Given the description of an element on the screen output the (x, y) to click on. 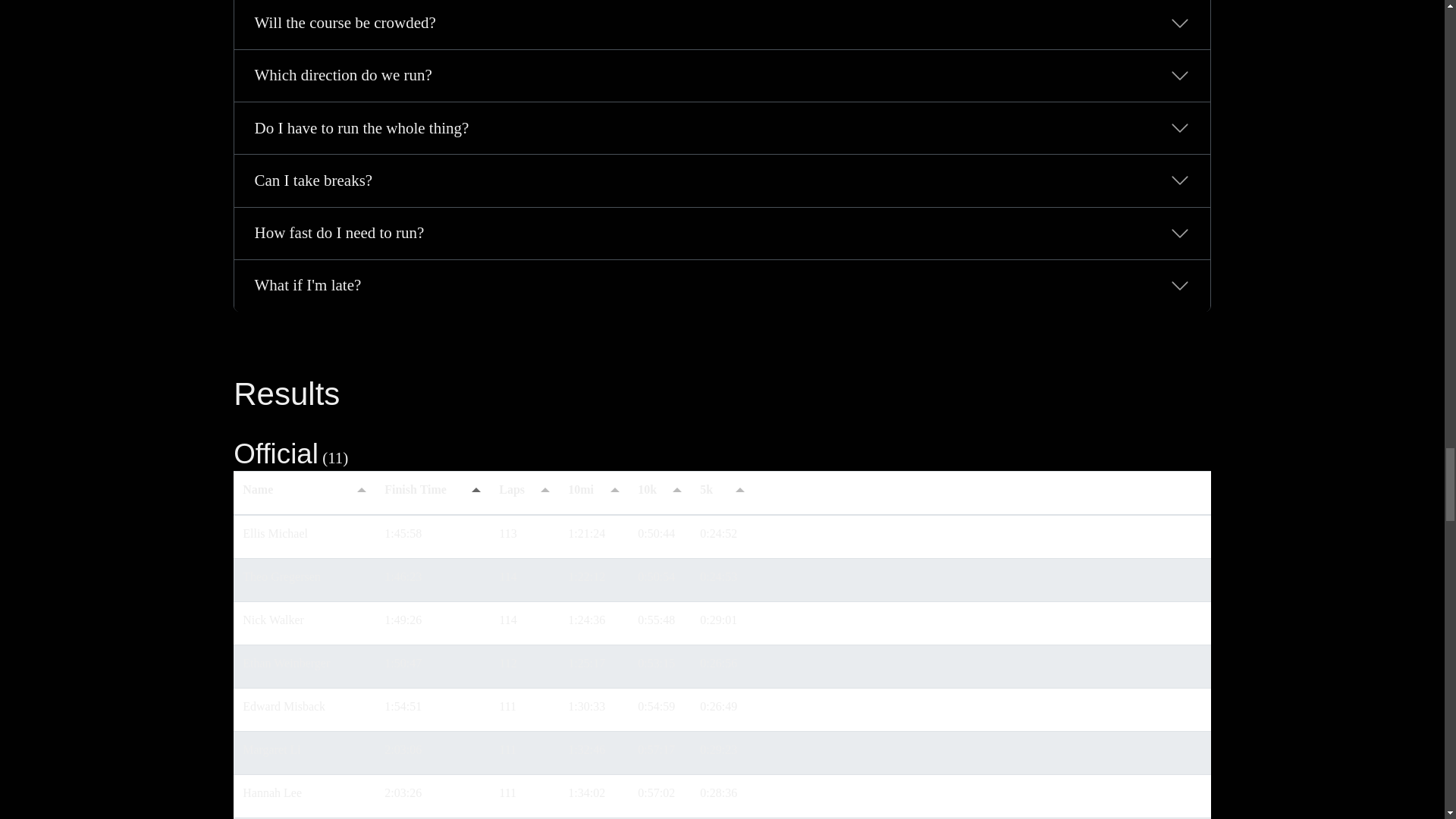
Which direction do we run? (721, 75)
How fast do I need to run? (721, 233)
Will the course be crowded? (721, 24)
Do I have to run the whole thing? (721, 127)
Can I take breaks? (721, 180)
What if I'm late? (721, 286)
